Given the description of an element on the screen output the (x, y) to click on. 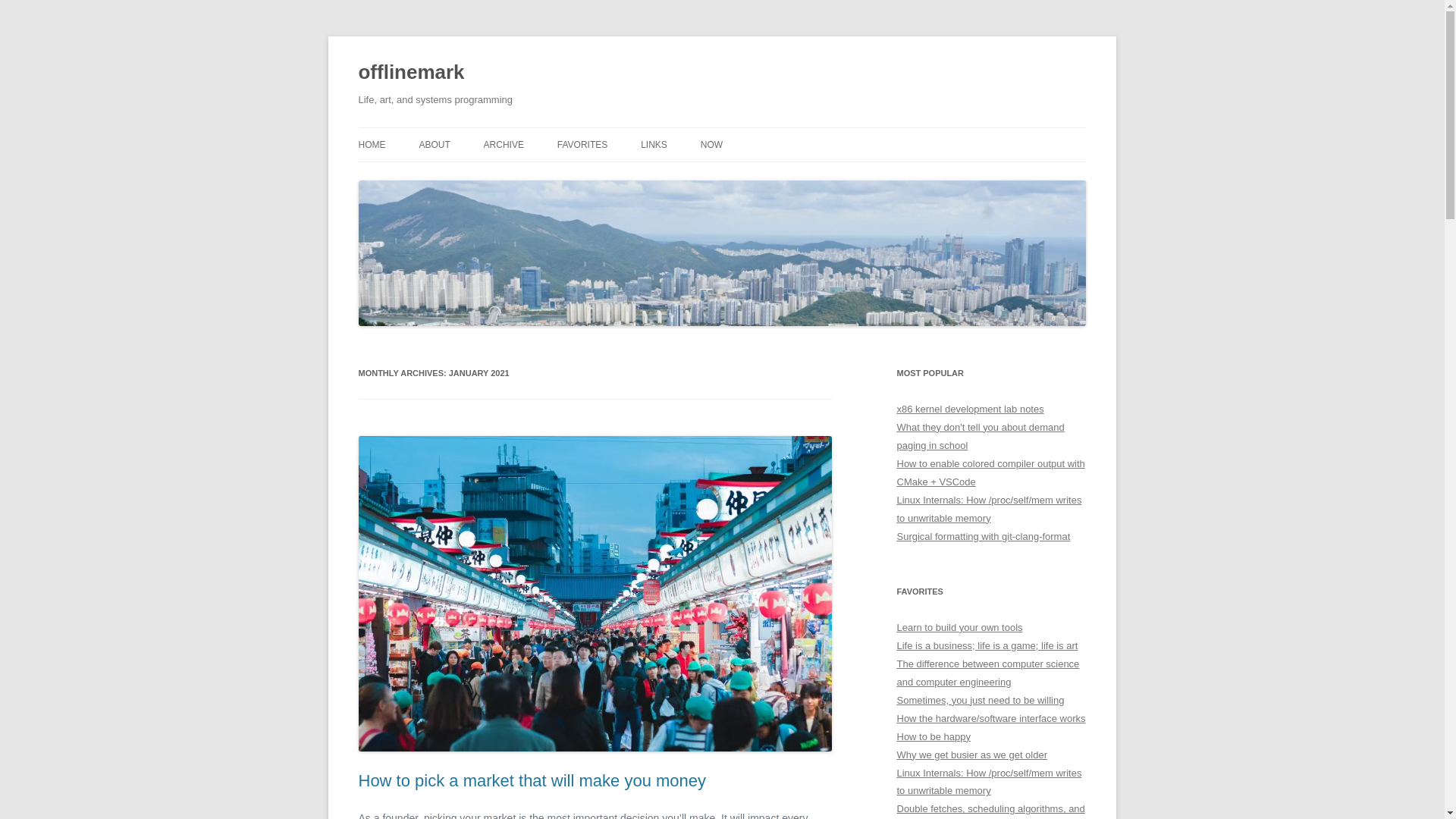
What they don't tell you about demand paging in school (980, 436)
x86 kernel development lab notes (969, 408)
How to pick a market that will make you money (532, 780)
ABOUT (434, 144)
FAVORITES (582, 144)
offlinemark (411, 72)
Surgical formatting with git-clang-format (983, 536)
ARCHIVE (503, 144)
Learn to build your own tools (959, 627)
